Given the description of an element on the screen output the (x, y) to click on. 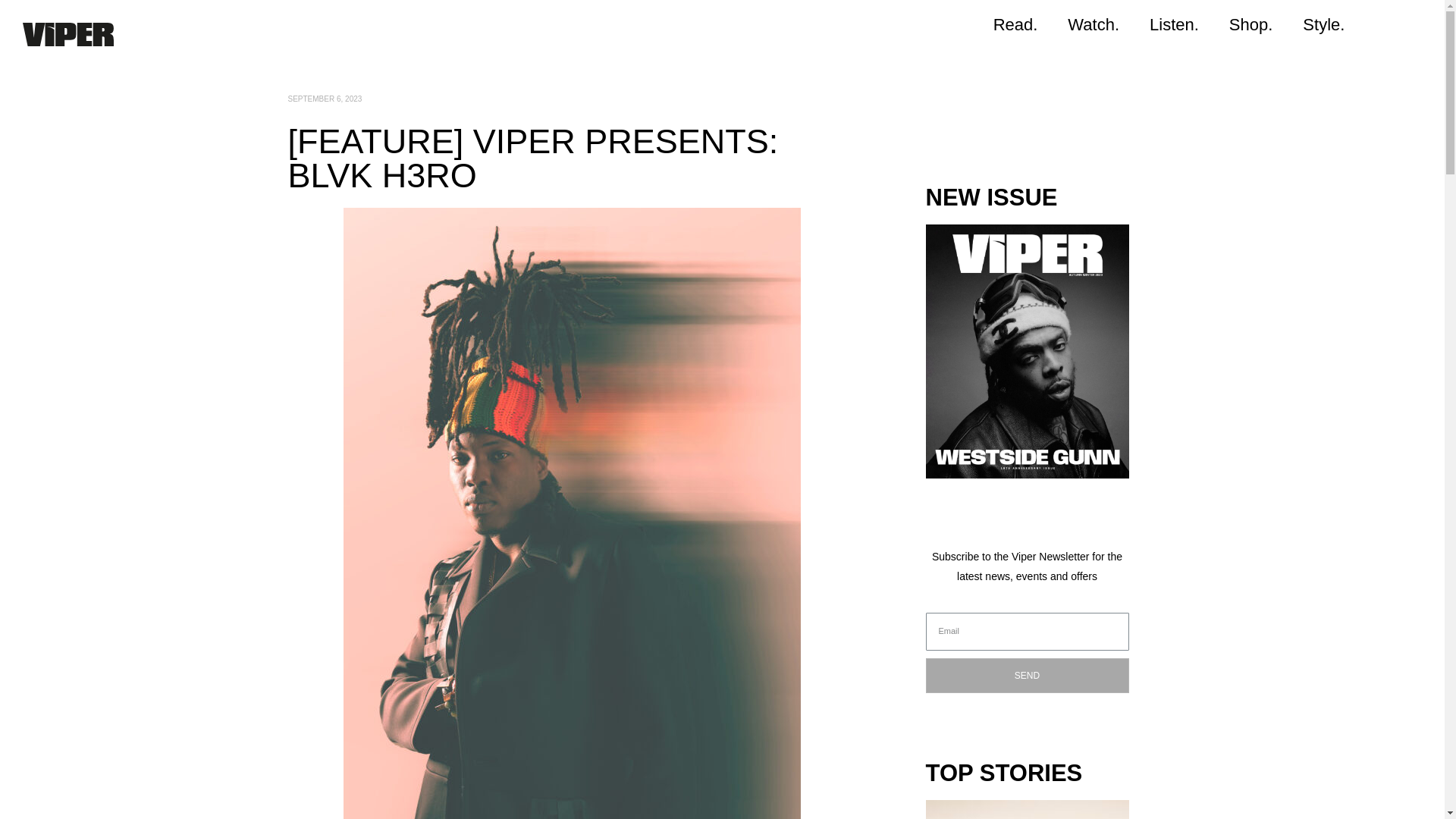
Shop. (1251, 24)
Watch. (1093, 24)
Listen. (1174, 24)
Read. (1015, 24)
Style. (1323, 24)
SEND (1026, 675)
